Given the description of an element on the screen output the (x, y) to click on. 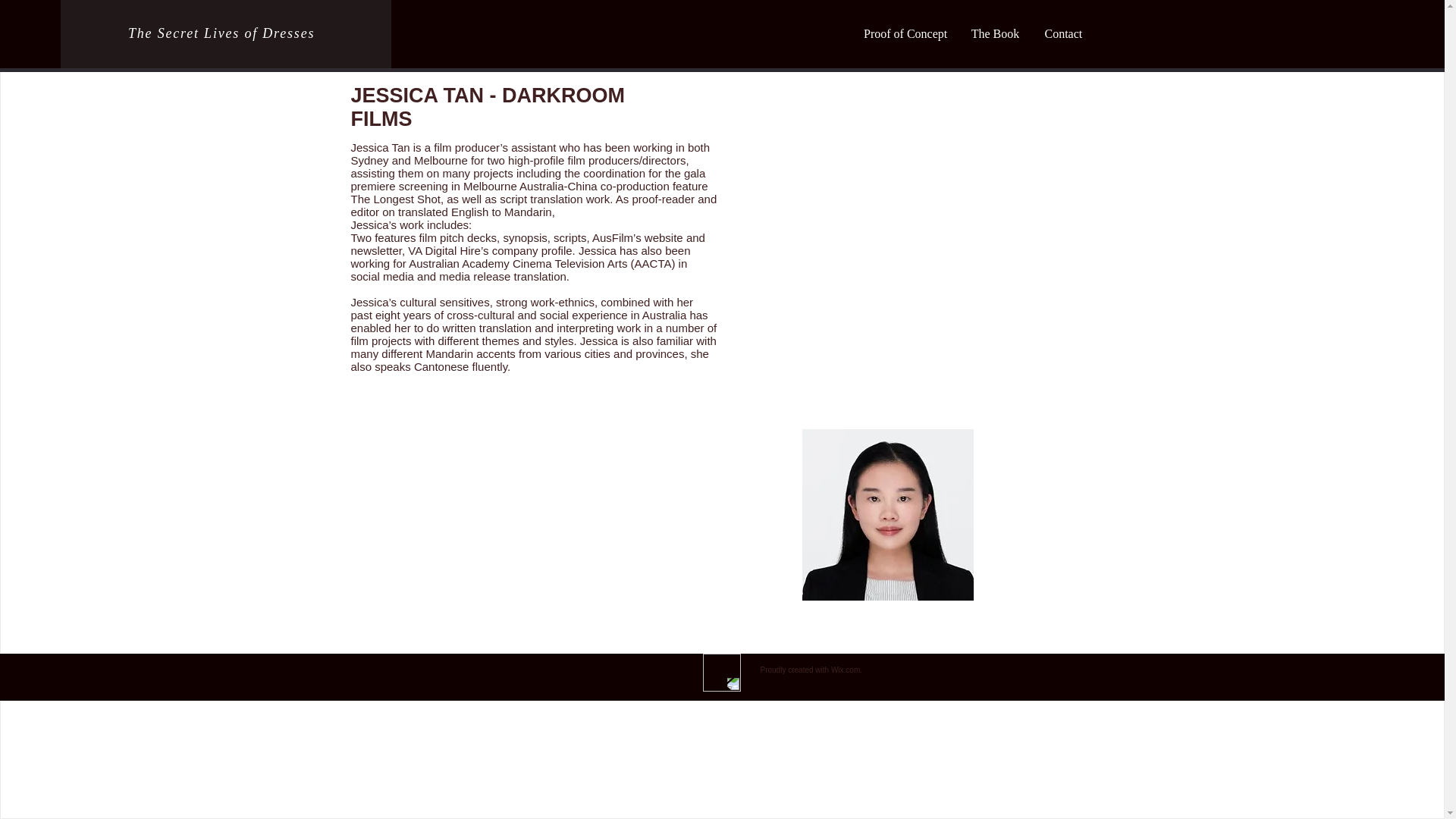
Contact (1061, 34)
Proof of Concept (903, 34)
The Secret Lives of Dresses (221, 32)
The Book (994, 34)
